Given the description of an element on the screen output the (x, y) to click on. 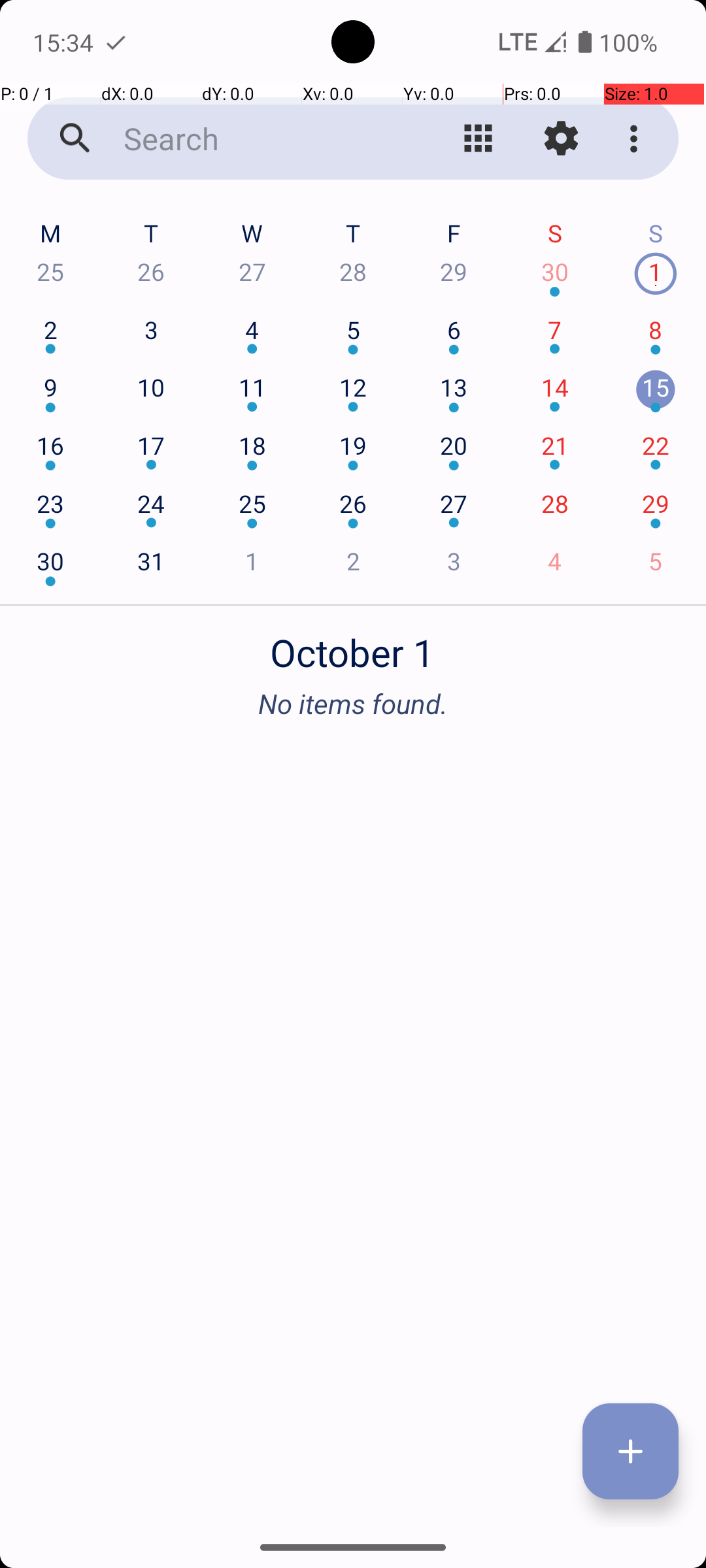
October 1 Element type: android.widget.TextView (352, 644)
